Given the description of an element on the screen output the (x, y) to click on. 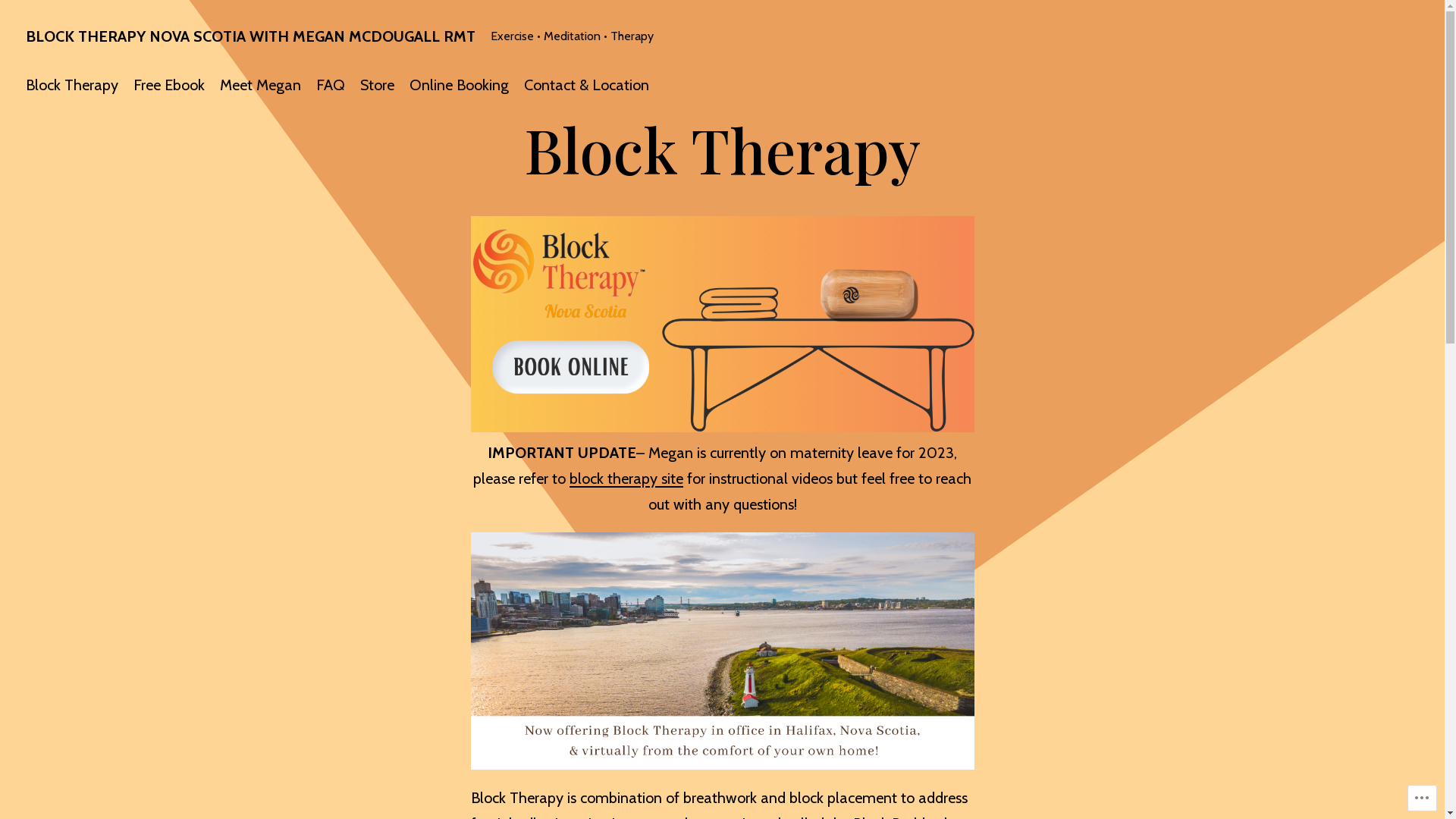
Contact & Location Element type: text (586, 84)
Store Element type: text (377, 84)
BLOCK THERAPY NOVA SCOTIA WITH MEGAN MCDOUGALL RMT Element type: text (250, 36)
Free Ebook Element type: text (168, 84)
Meet Megan Element type: text (260, 84)
Block Therapy Element type: text (71, 84)
FAQ Element type: text (330, 84)
block therapy site Element type: text (626, 478)
Online Booking Element type: text (458, 84)
